Given the description of an element on the screen output the (x, y) to click on. 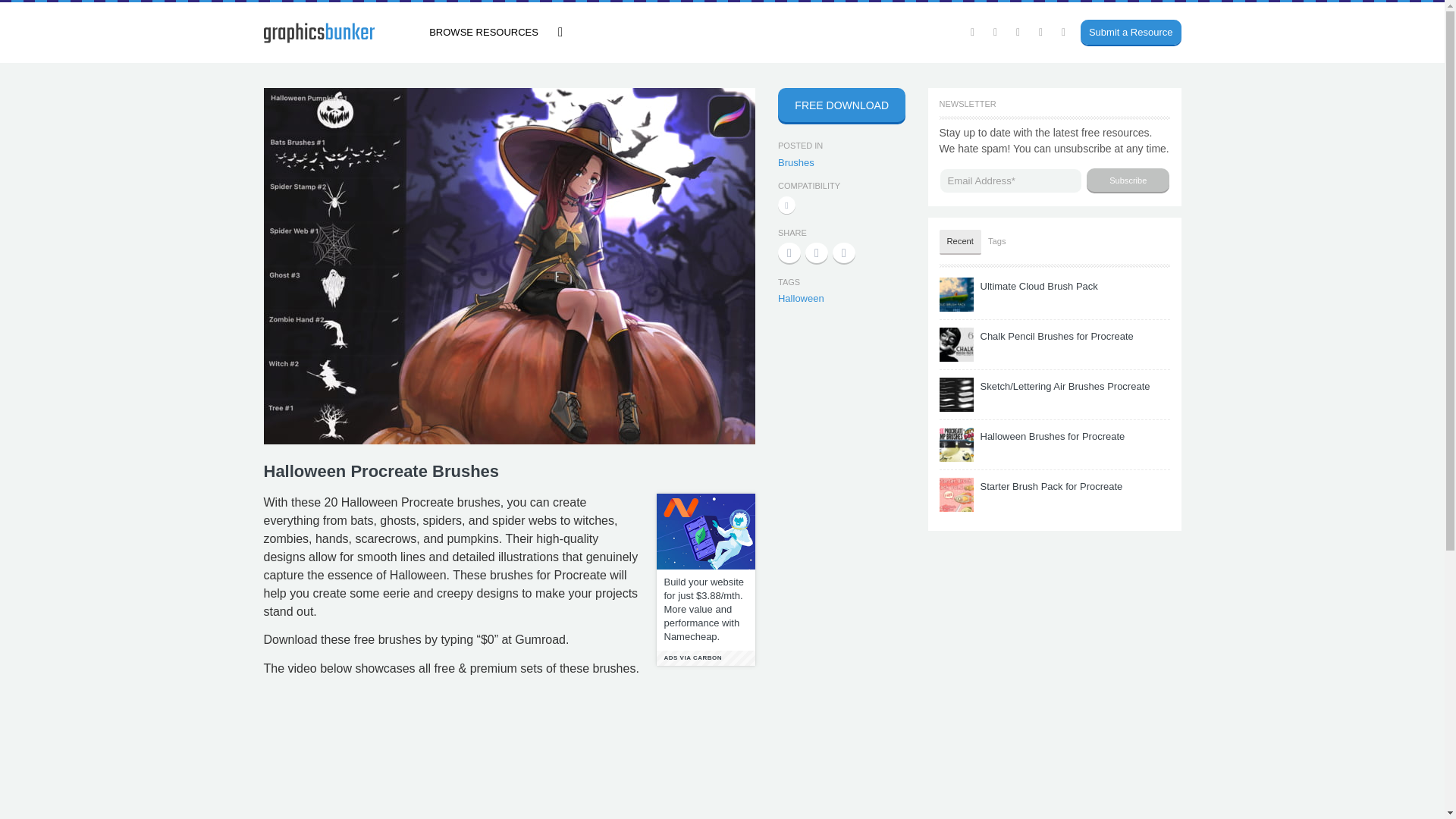
Halloween (800, 297)
Subscribe (1127, 179)
Submit a Resource (1125, 32)
Instagram (1018, 31)
Facebook (995, 31)
Pinterest (1040, 31)
ADS VIA CARBON (705, 657)
logo (318, 32)
FREE DOWNLOAD (841, 104)
